Given the description of an element on the screen output the (x, y) to click on. 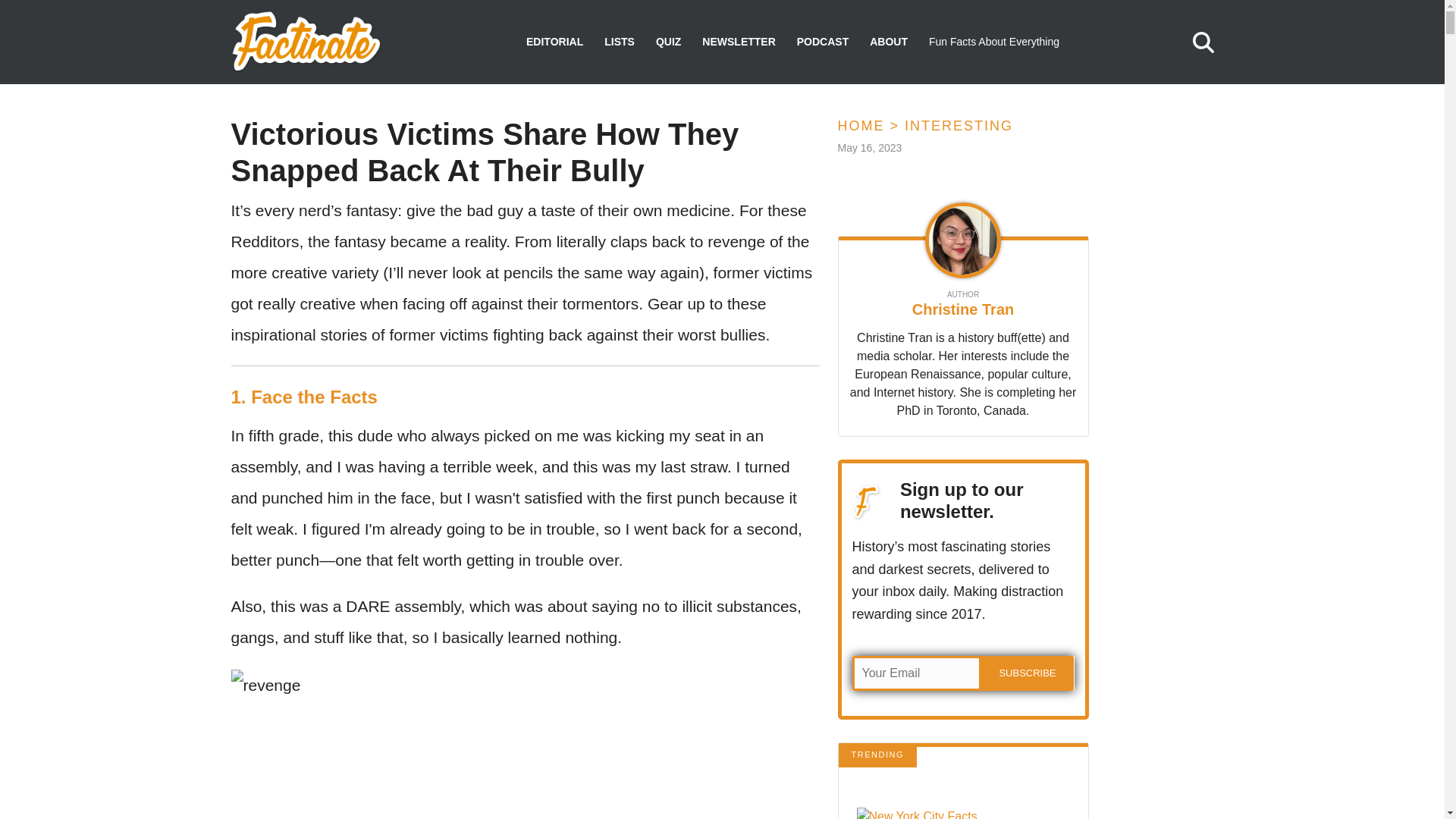
ABOUT (888, 41)
NEWSLETTER (737, 41)
QUIZ (668, 41)
LISTS (619, 41)
PODCAST (822, 41)
EDITORIAL (554, 41)
